Given the description of an element on the screen output the (x, y) to click on. 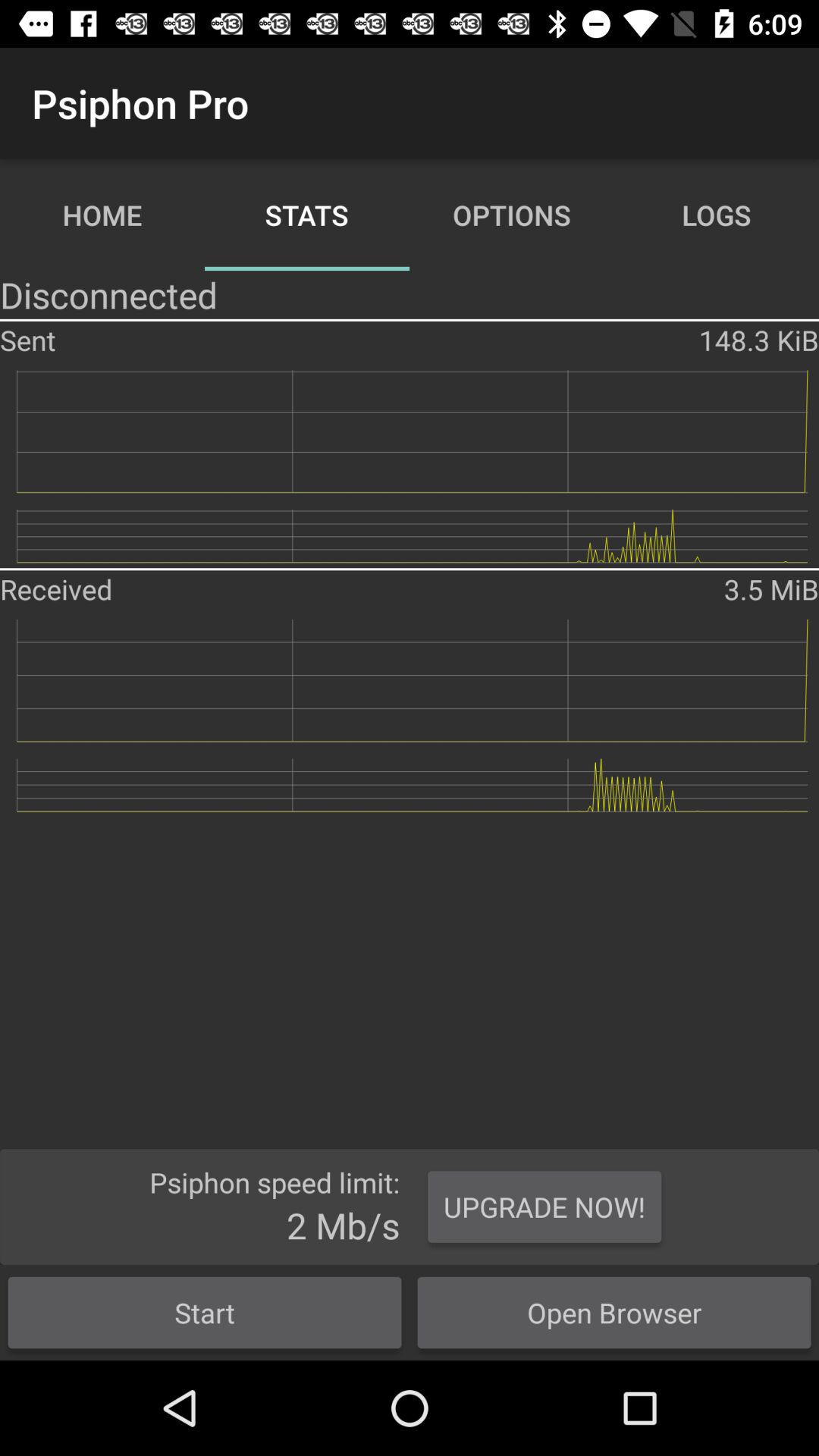
launch button to the left of the open browser button (204, 1312)
